Given the description of an element on the screen output the (x, y) to click on. 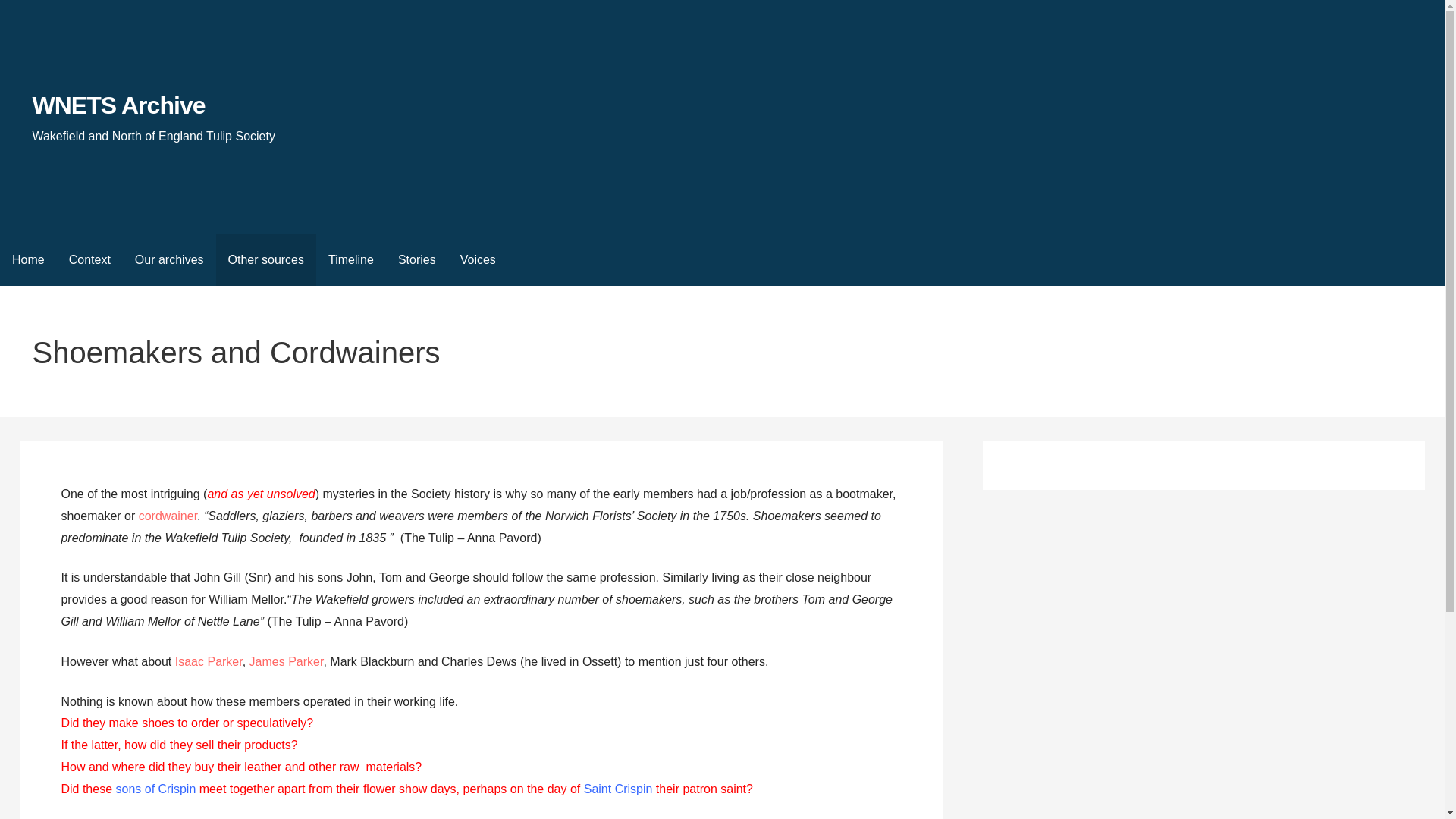
sons of Crispin (155, 788)
Isaac Parker (208, 661)
Context (89, 259)
Saint Crispin (617, 788)
cordwainer (167, 515)
James Parker (285, 661)
WNETS Archive (118, 104)
Timeline (350, 259)
Our archives (168, 259)
Voices (478, 259)
